Given the description of an element on the screen output the (x, y) to click on. 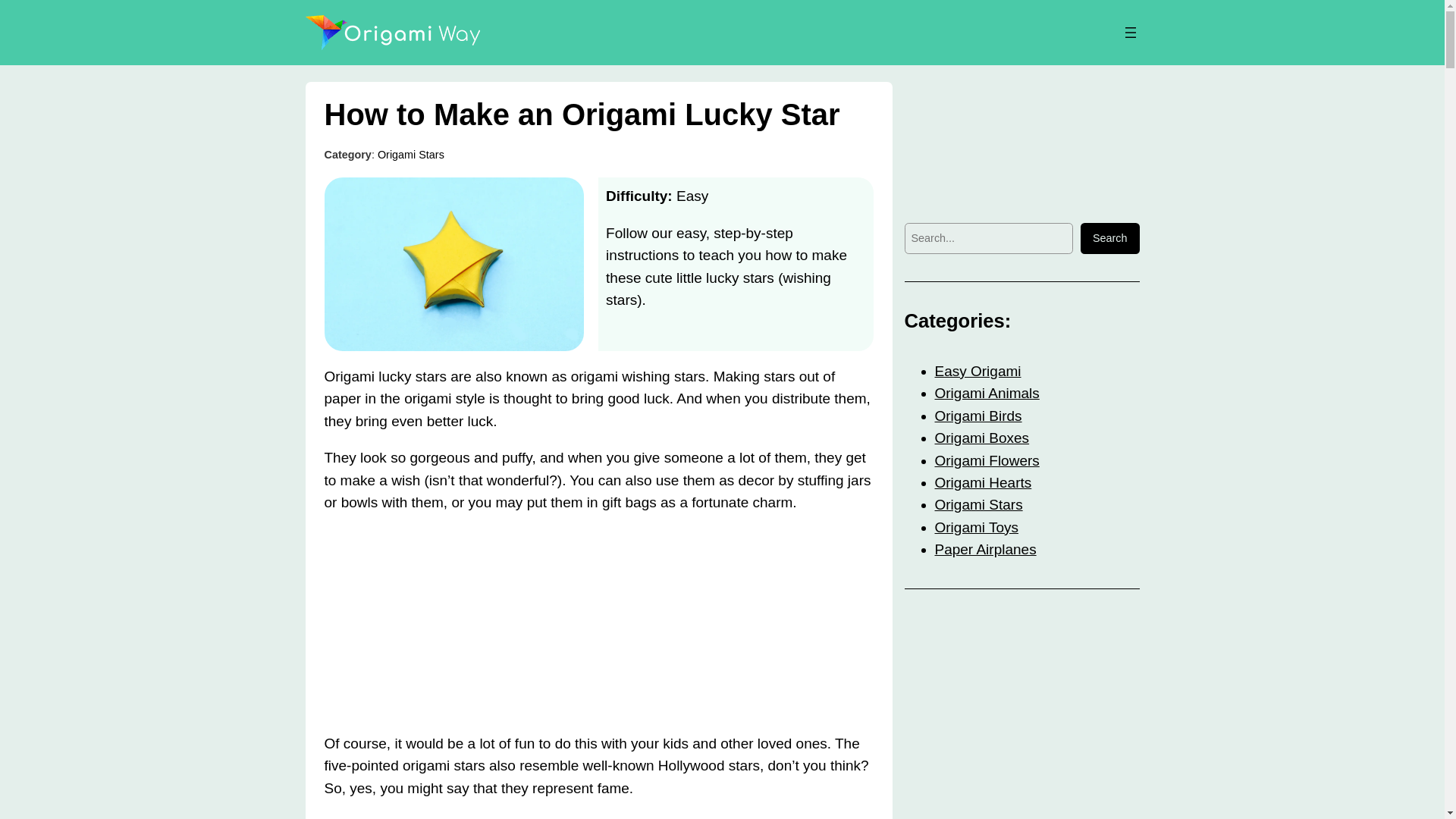
Origami Flowers (986, 460)
Origami Toys (975, 527)
Origami Boxes (981, 437)
Origami Animals (986, 392)
Easy Origami (977, 371)
Paper Airplanes (984, 549)
Origami Hearts (982, 482)
Origami Stars (410, 154)
Search (1110, 238)
Origami Stars (978, 504)
